Given the description of an element on the screen output the (x, y) to click on. 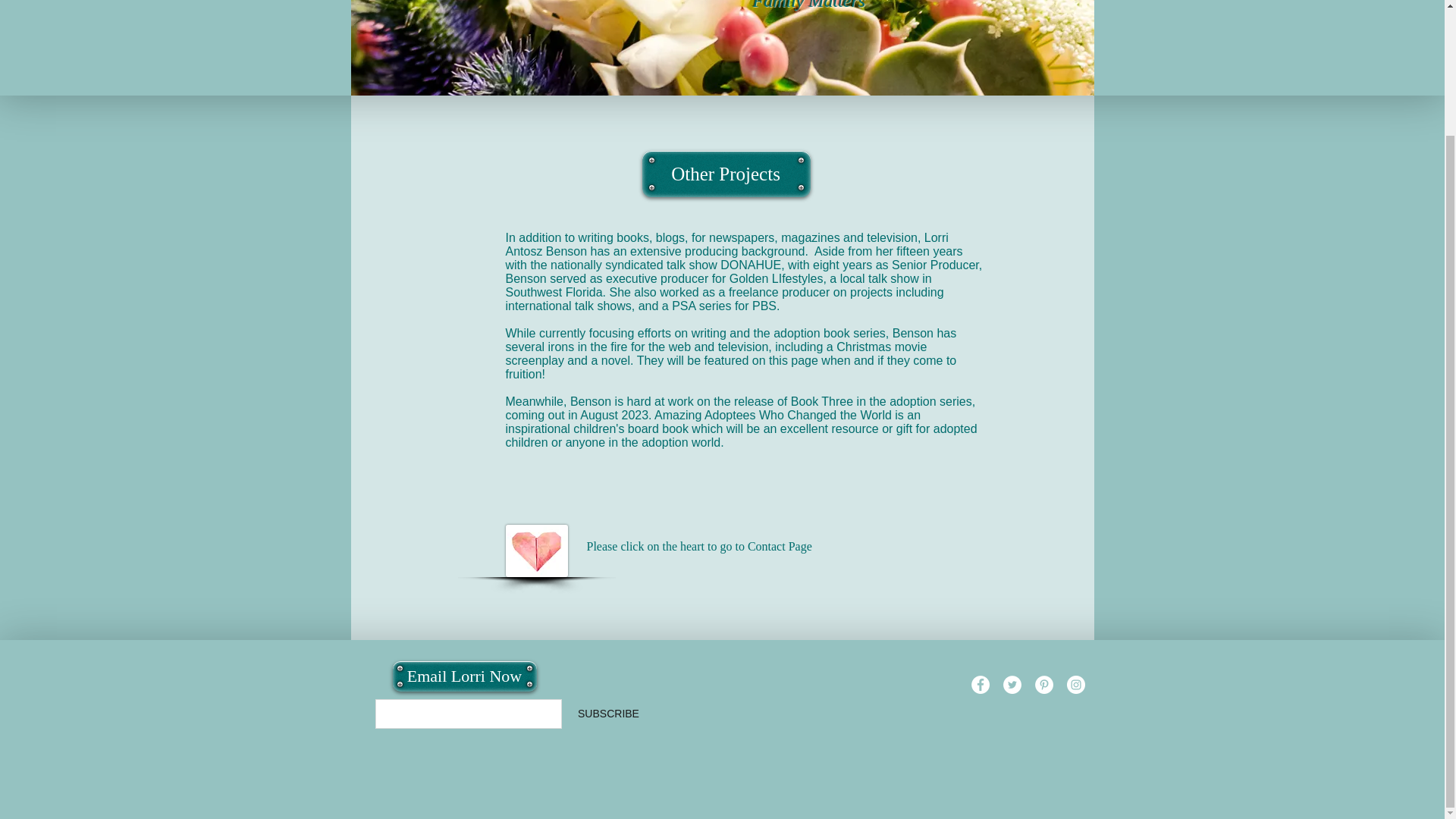
Email Lorri Now (465, 675)
Flowers980.jpg (721, 47)
SUBSCRIBE (608, 713)
